Given the description of an element on the screen output the (x, y) to click on. 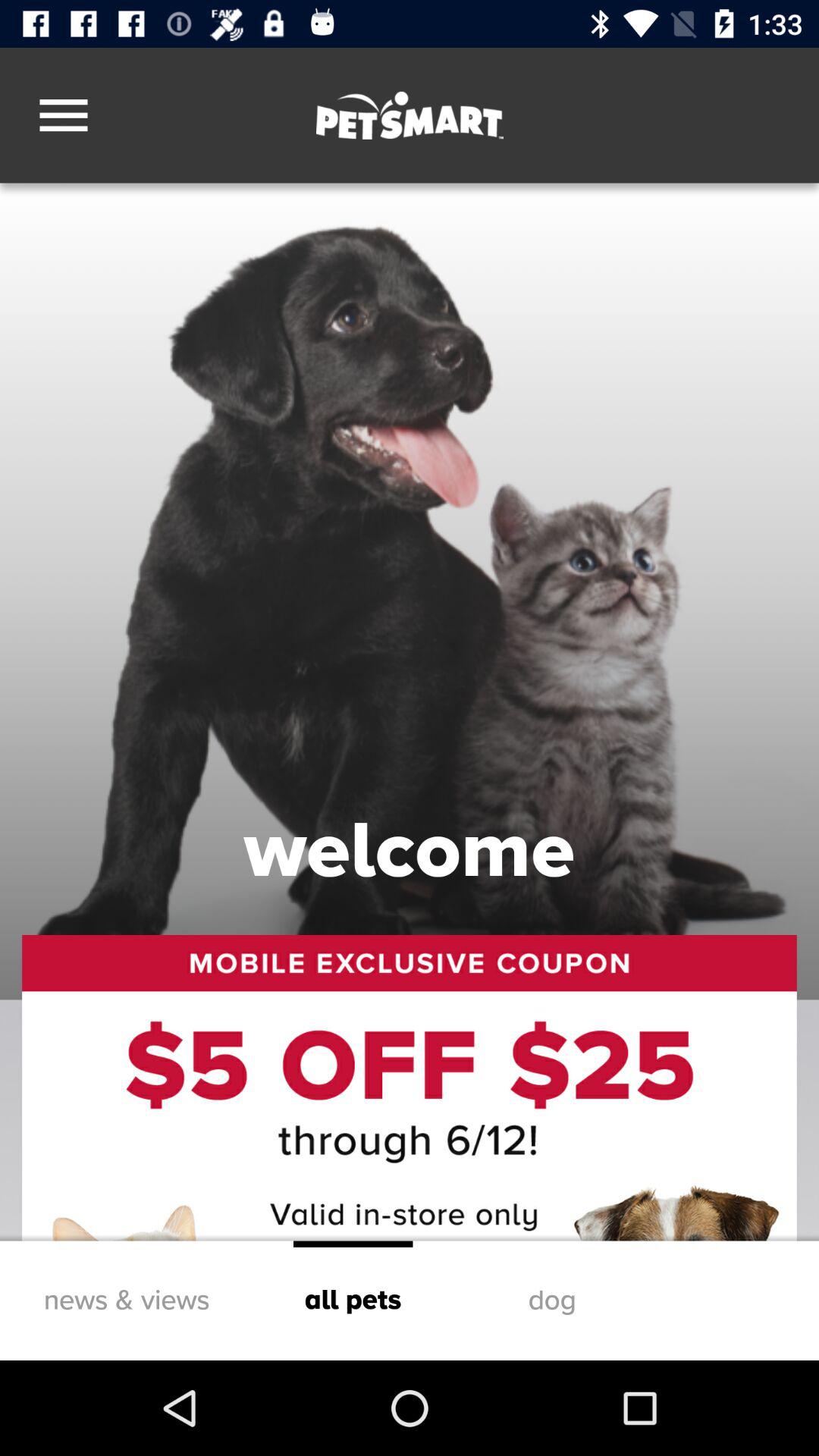
turn off icon above news & views icon (409, 1088)
